Given the description of an element on the screen output the (x, y) to click on. 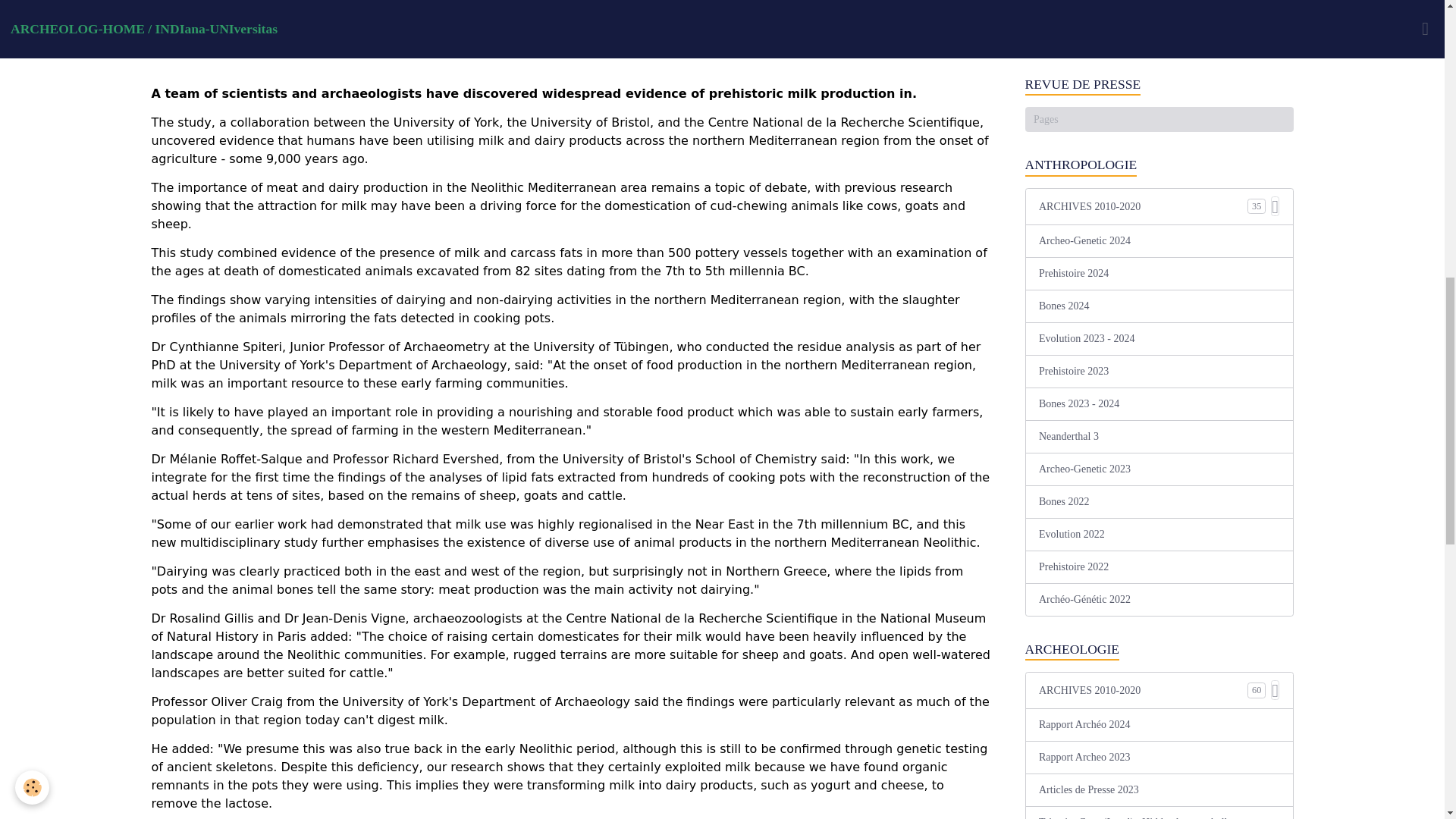
REVUE DE PRESSE (1159, 84)
ANTHROPOLOGIE (1159, 165)
